Given the description of an element on the screen output the (x, y) to click on. 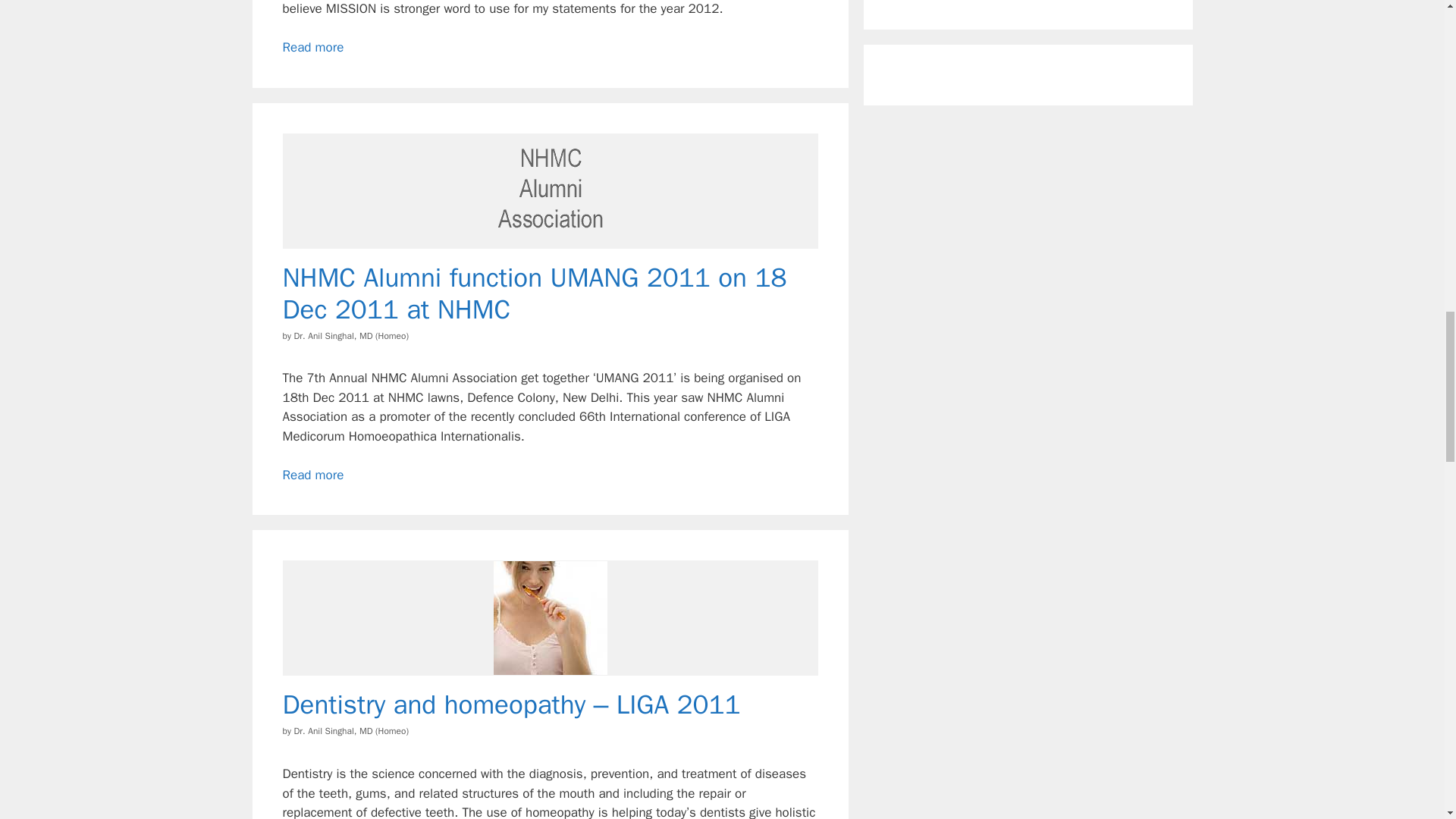
Read more (312, 47)
Mission 2012 (312, 47)
NHMC Alumni function UMANG 2011 on 18 Dec 2011 at NHMC (312, 474)
NHMC Alumni function UMANG 2011 on 18 Dec 2011 at NHMC (534, 293)
Read more (312, 474)
